Given the description of an element on the screen output the (x, y) to click on. 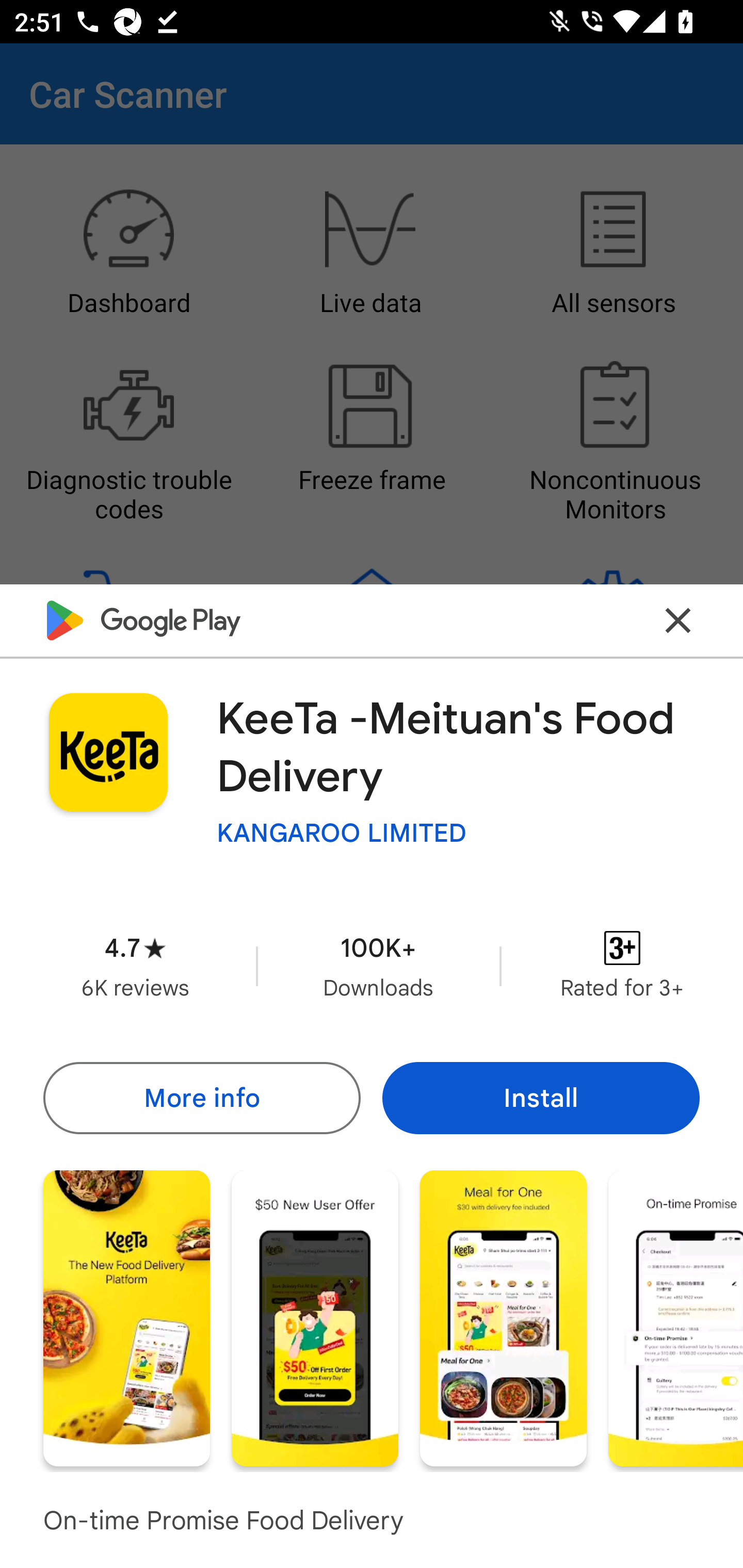
Close (677, 620)
KANGAROO LIMITED (341, 832)
More info (201, 1097)
Install (540, 1097)
Screenshot "1" of "6" (126, 1317)
Screenshot "2" of "6" (314, 1317)
Screenshot "3" of "6" (502, 1317)
Screenshot "4" of "6" (675, 1317)
